Given the description of an element on the screen output the (x, y) to click on. 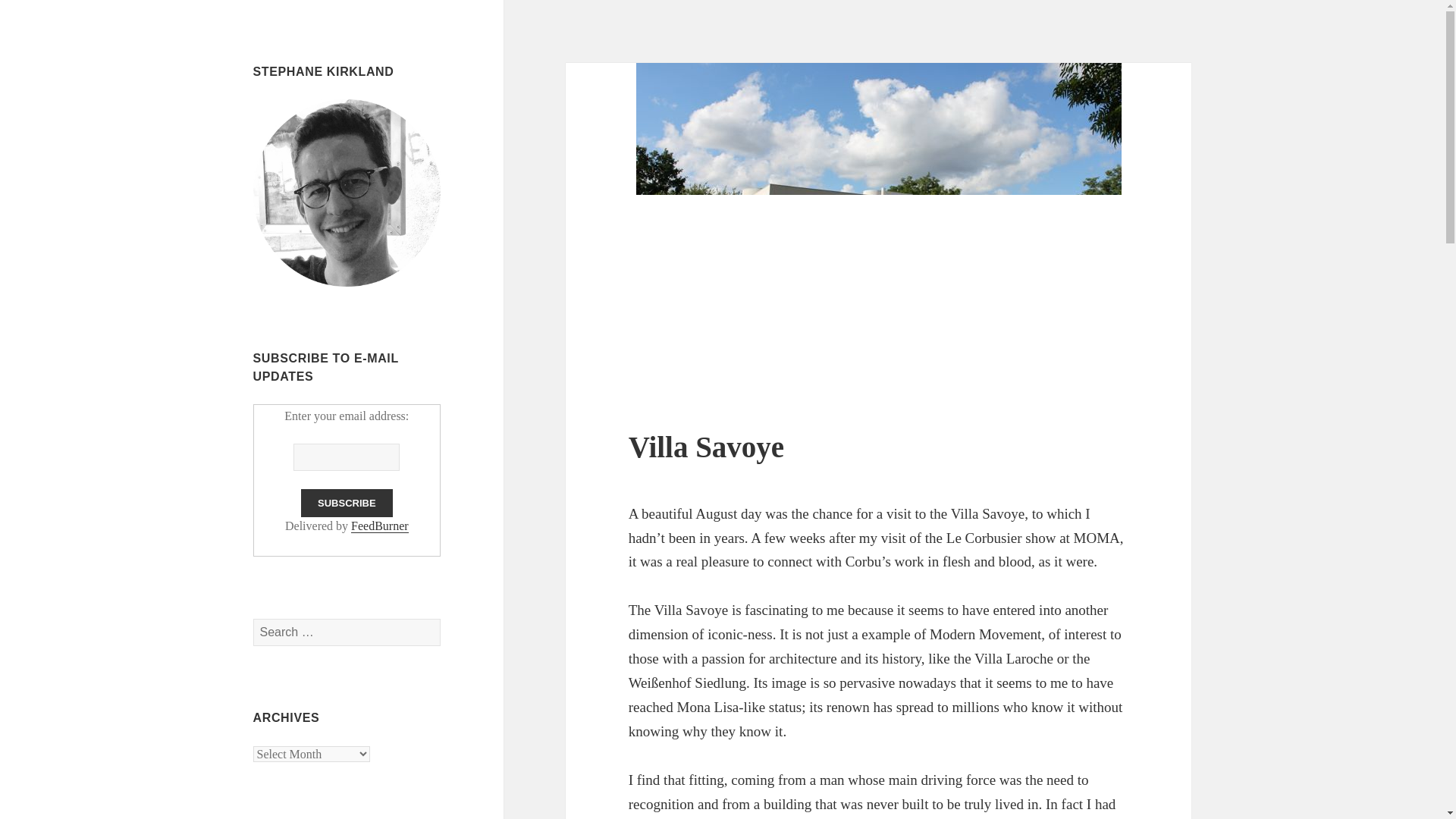
Subscribe (347, 502)
FeedBurner (379, 526)
Subscribe (347, 502)
